Given the description of an element on the screen output the (x, y) to click on. 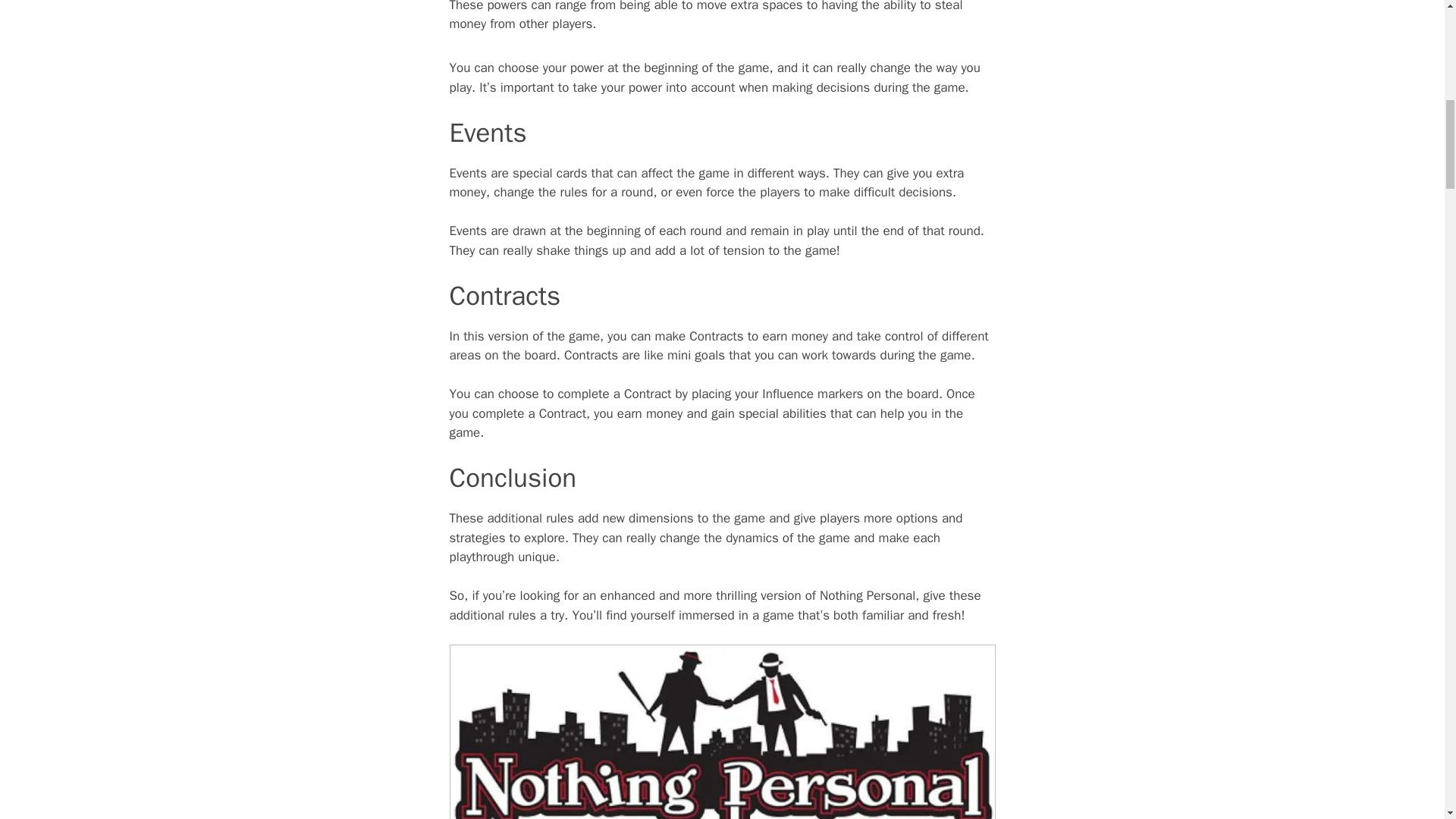
Additional Rules for Nothing Personal UltraFoodMess (721, 731)
